Given the description of an element on the screen output the (x, y) to click on. 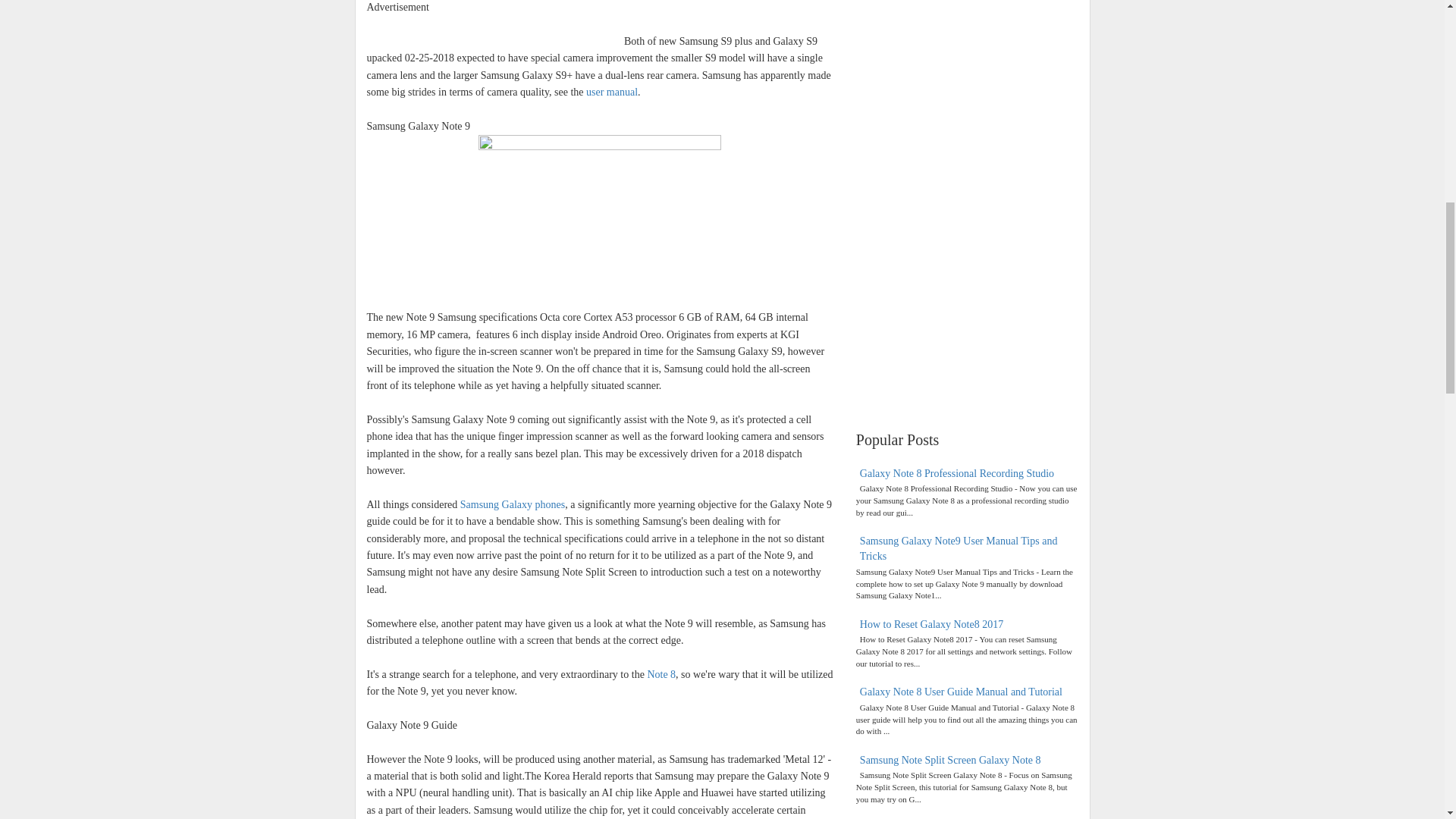
Note 8 (660, 674)
Samsung Galaxy phones (512, 504)
user manual (611, 91)
